Given the description of an element on the screen output the (x, y) to click on. 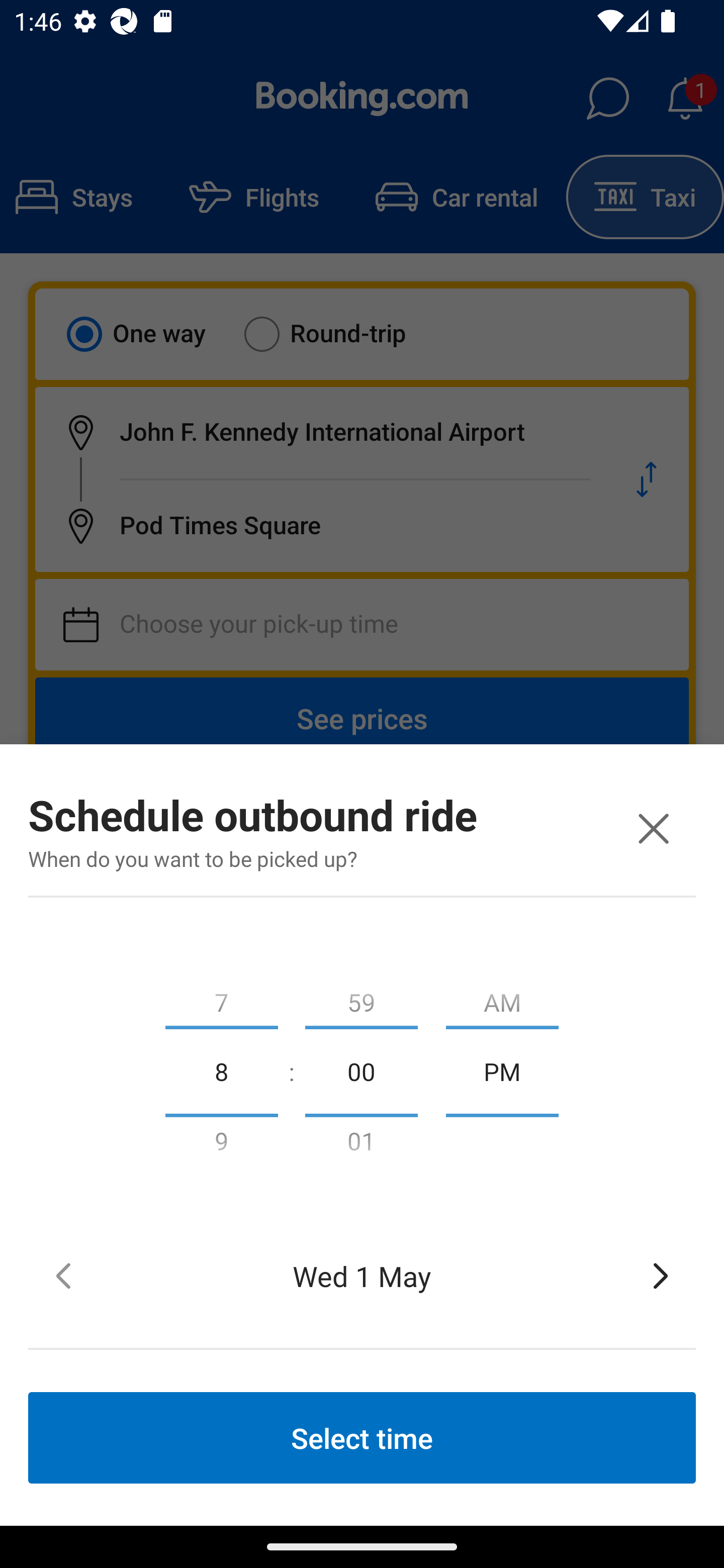
Close window (653, 828)
7 (221, 997)
59 (361, 997)
AM (501, 997)
8 (221, 1070)
00 (361, 1070)
PM (501, 1070)
9 (221, 1144)
01 (361, 1144)
Tap to move back to the previous date (63, 1275)
Tap to move forward to the next date (660, 1275)
Wed 1 May Selected date, Wednesday, 1 May (361, 1275)
Select time (361, 1437)
